Given the description of an element on the screen output the (x, y) to click on. 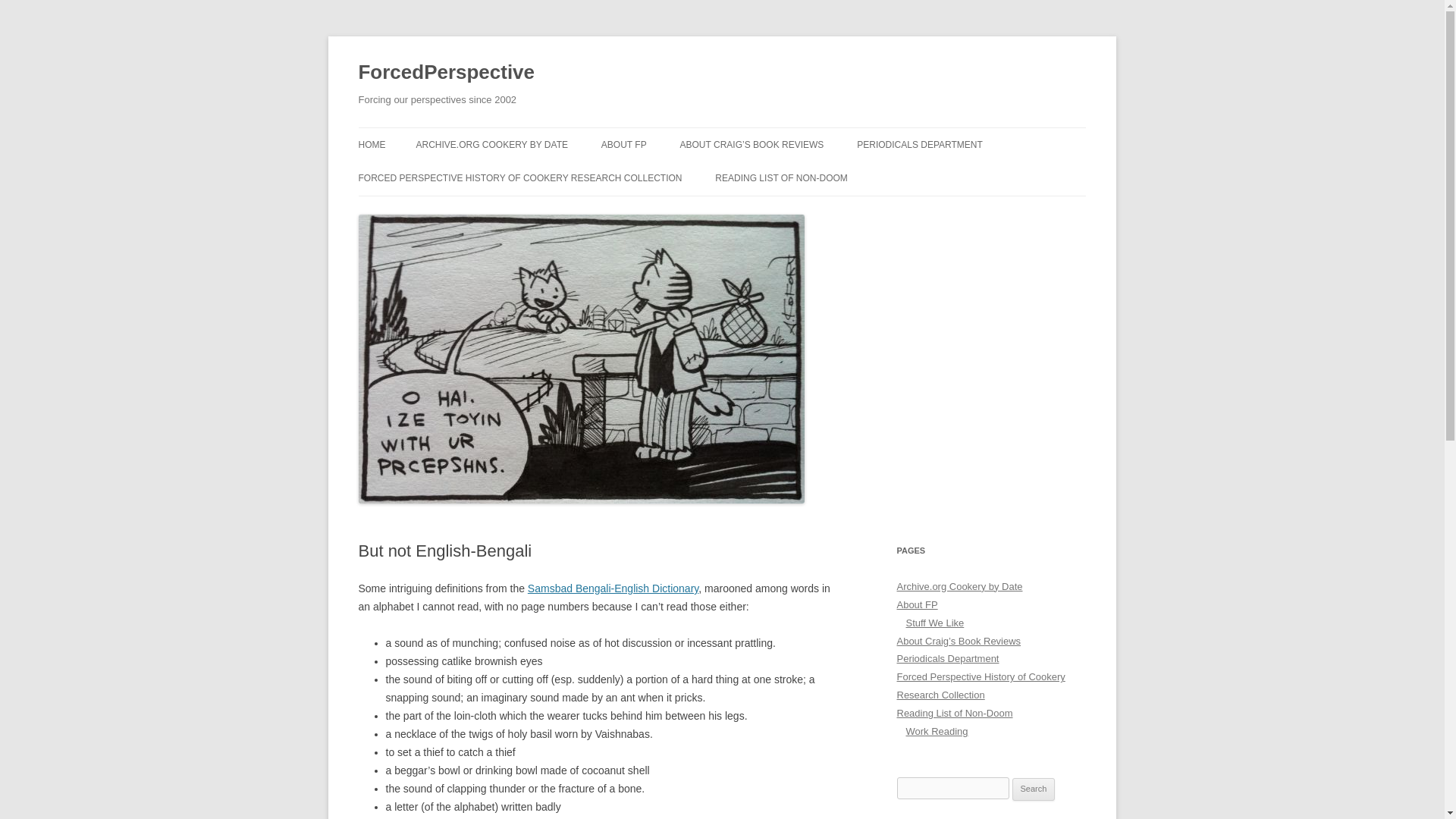
Stuff We Like (934, 622)
Samsbad Bengali-English Dictionary (612, 588)
WORK READING (790, 210)
ARCHIVE.ORG COOKERY BY DATE (490, 144)
About FP (916, 604)
READING LIST OF NON-DOOM (780, 177)
Forced Perspective History of Cookery Research Collection (980, 685)
Search (1033, 789)
Archive.org Cookery by Date (959, 586)
FORCED PERSPECTIVE HISTORY OF COOKERY RESEARCH COLLECTION (519, 177)
Periodicals Department (947, 658)
Work Reading (936, 731)
ForcedPerspective (446, 72)
Search (1033, 789)
